Given the description of an element on the screen output the (x, y) to click on. 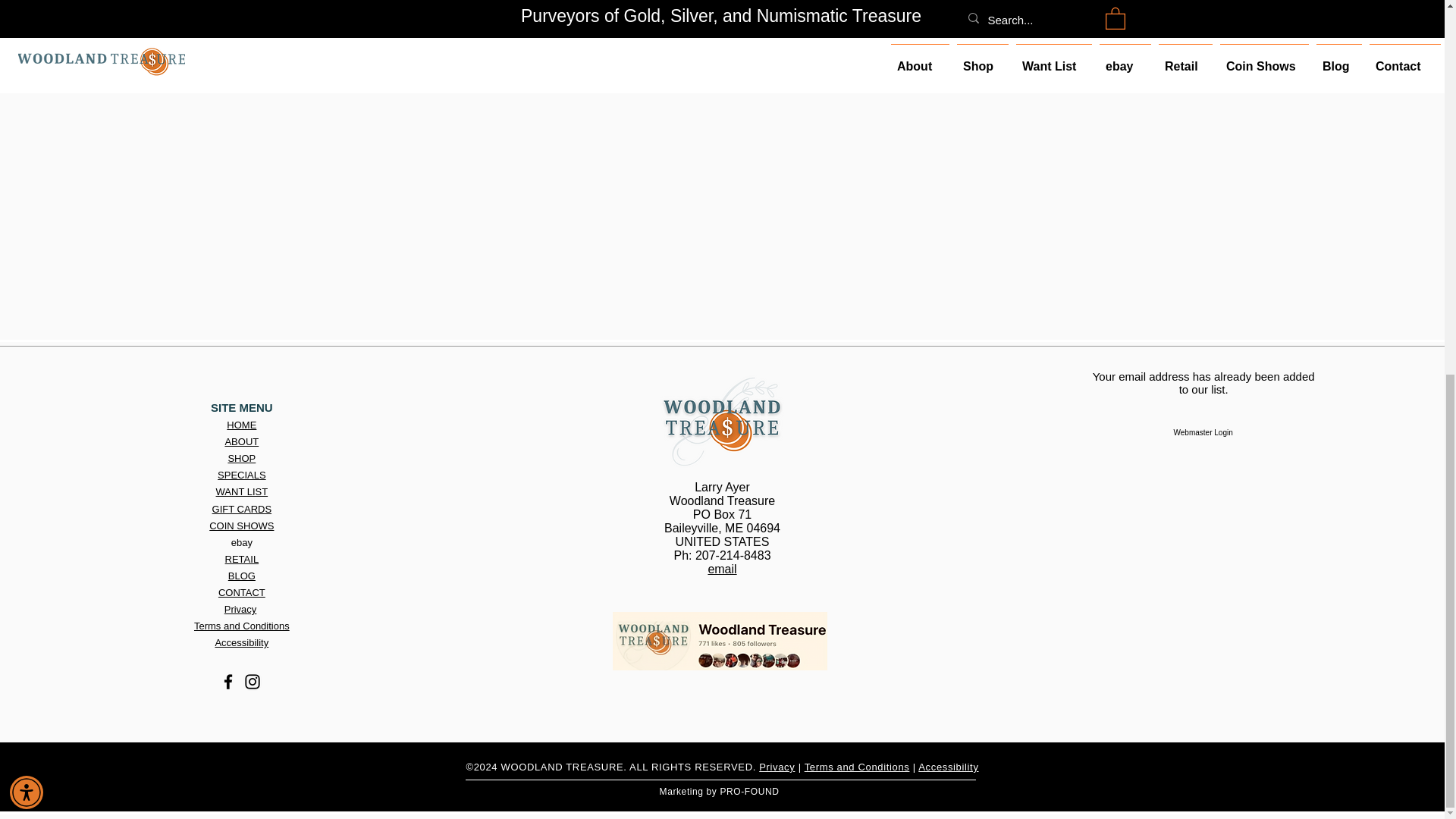
WANT LIST (241, 491)
Terms and Conditions (241, 625)
Privacy (240, 609)
ABOUT (241, 441)
COIN SHOWS (241, 525)
SHOP (241, 458)
BLOG (242, 575)
GIFT CARDS (242, 509)
Accessibility (240, 642)
RETAIL (242, 559)
CONTACT (241, 592)
HOME (241, 424)
email (721, 568)
SPECIALS (241, 474)
Accessibility Menu (26, 105)
